Given the description of an element on the screen output the (x, y) to click on. 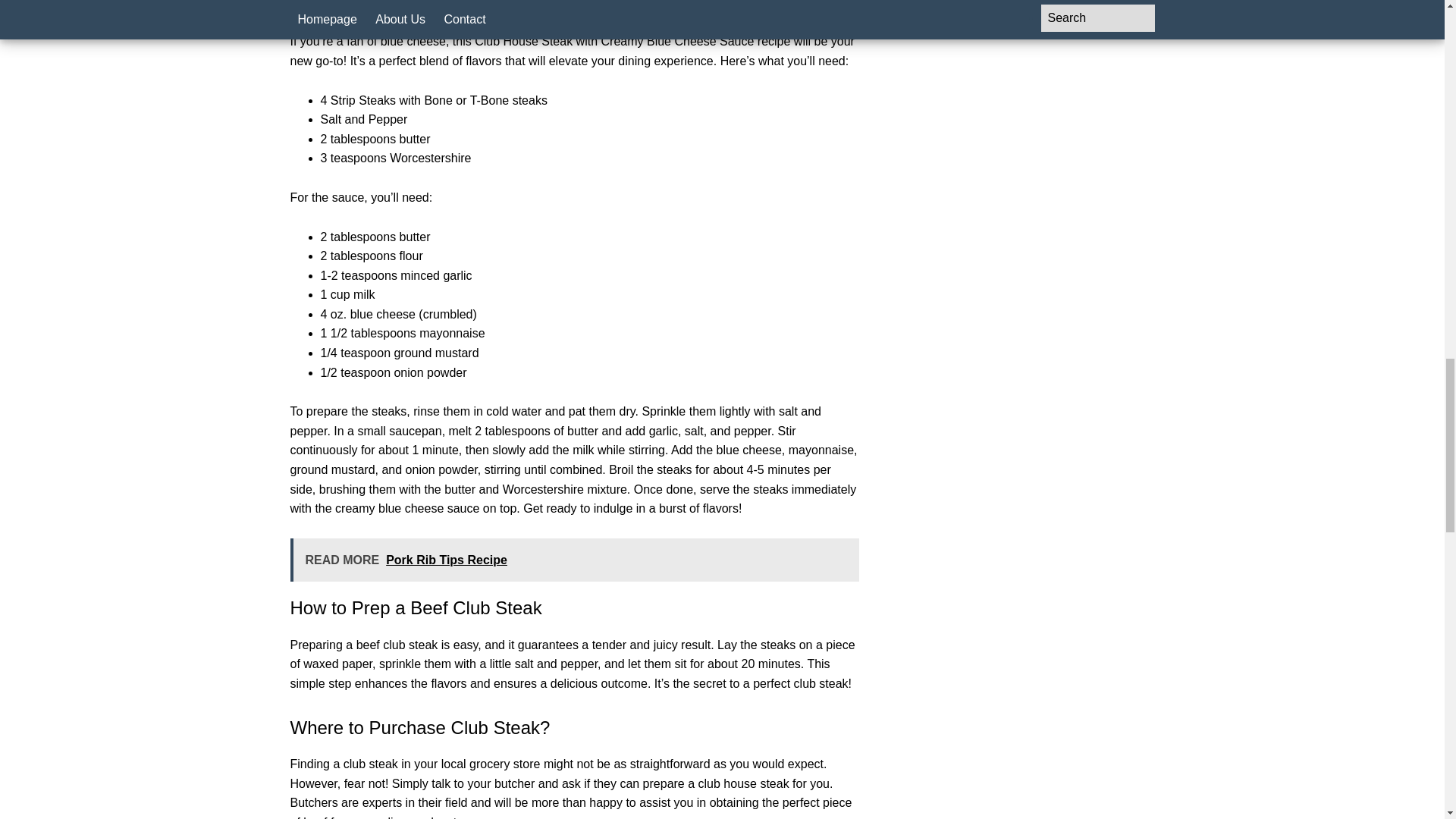
READ MORE  Pork Rib Tips Recipe (574, 560)
